Given the description of an element on the screen output the (x, y) to click on. 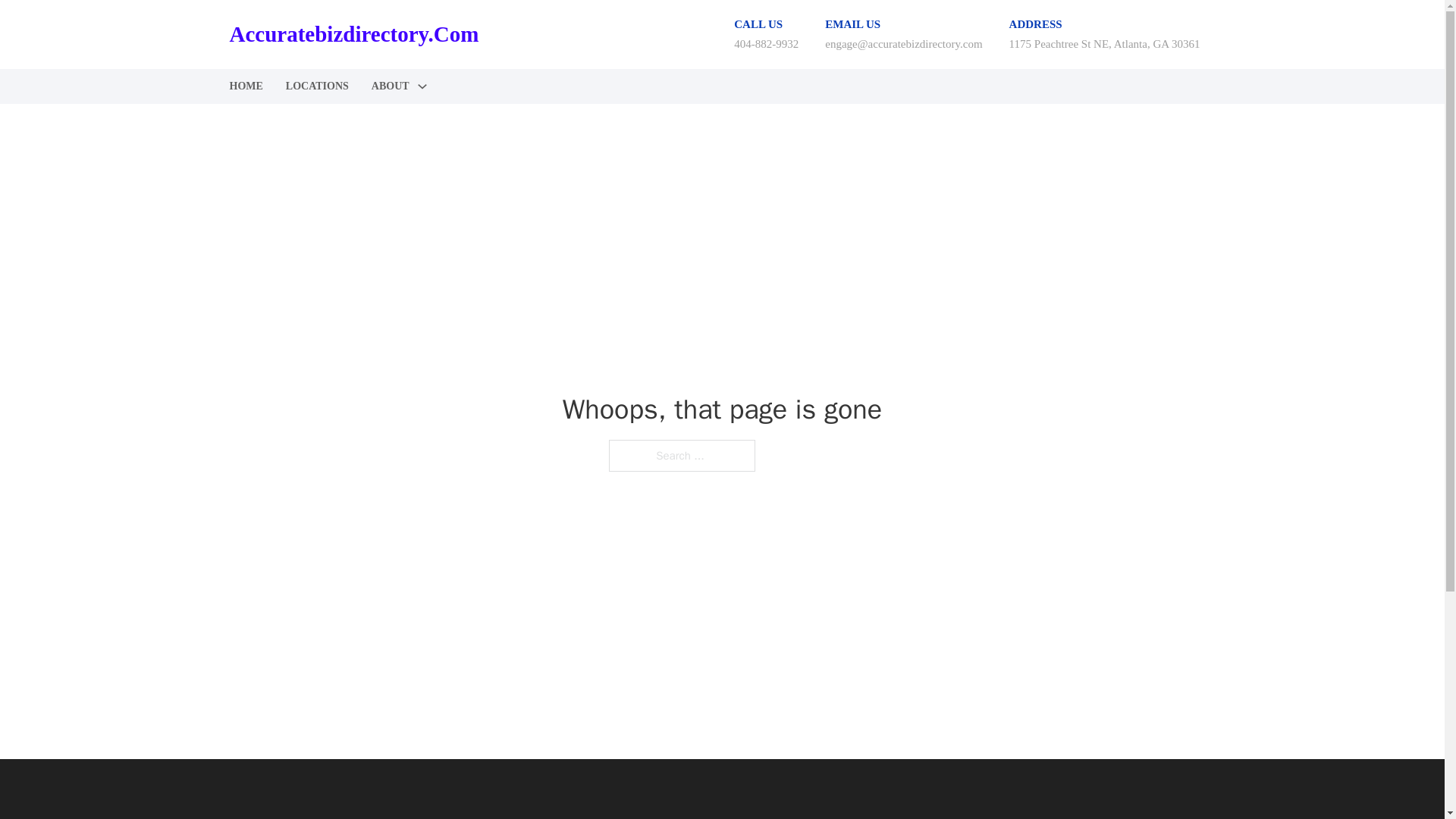
HOME (245, 85)
Accuratebizdirectory.Com (353, 34)
LOCATIONS (317, 85)
404-882-9932 (765, 43)
